Given the description of an element on the screen output the (x, y) to click on. 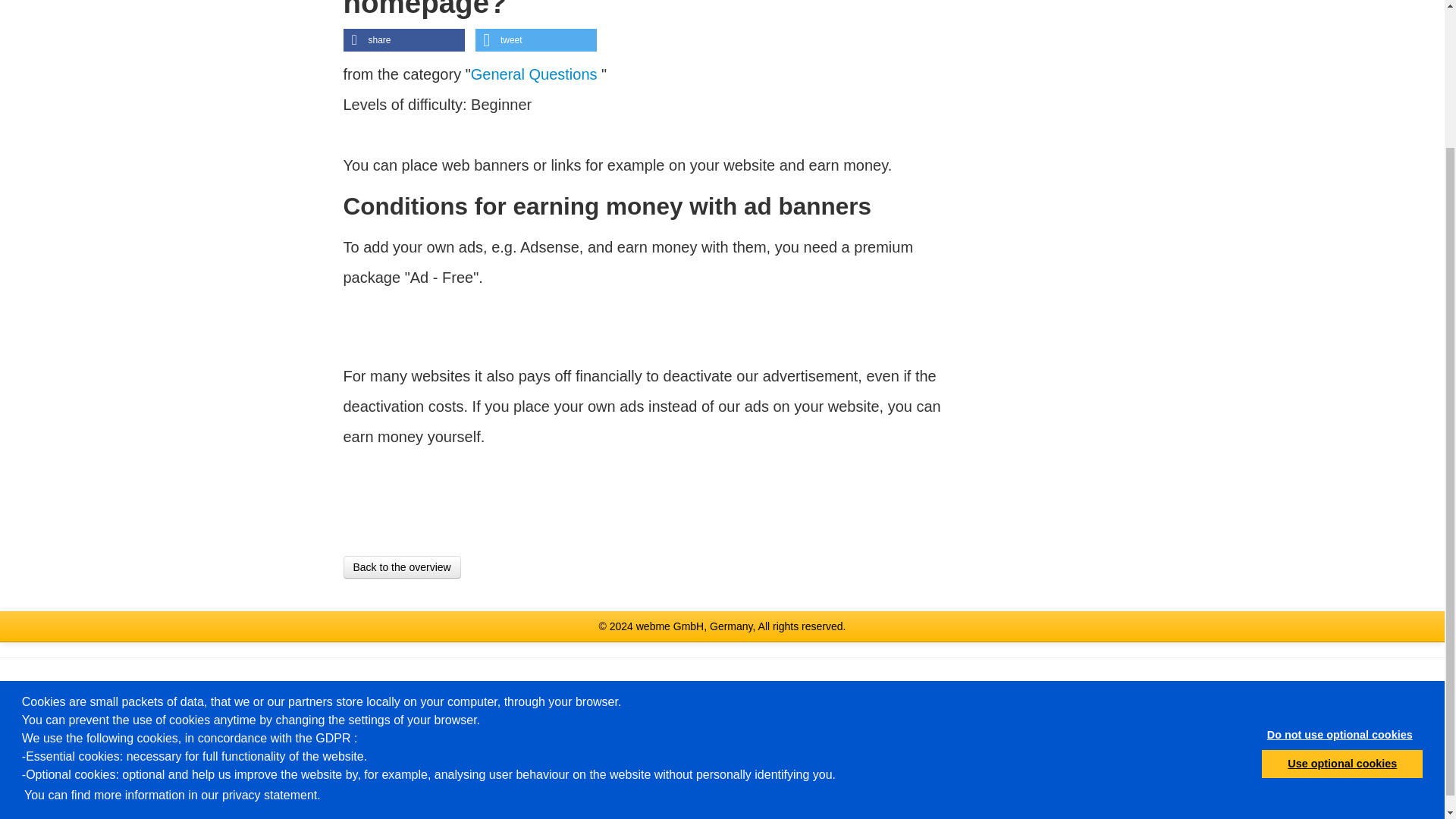
Starter (605, 803)
Polski - stronygratis.pl (808, 686)
English - own-free-website.com (584, 686)
Privacy Policy (456, 803)
Abuse (938, 803)
General Questions (535, 74)
Private (606, 788)
Polski (808, 686)
Italiano (758, 686)
Protection of Minors (970, 773)
share (403, 39)
You can find more information in our privacy statement. (172, 621)
Deutsch (527, 686)
English (584, 686)
Contact - own-free-website.com (441, 773)
